Given the description of an element on the screen output the (x, y) to click on. 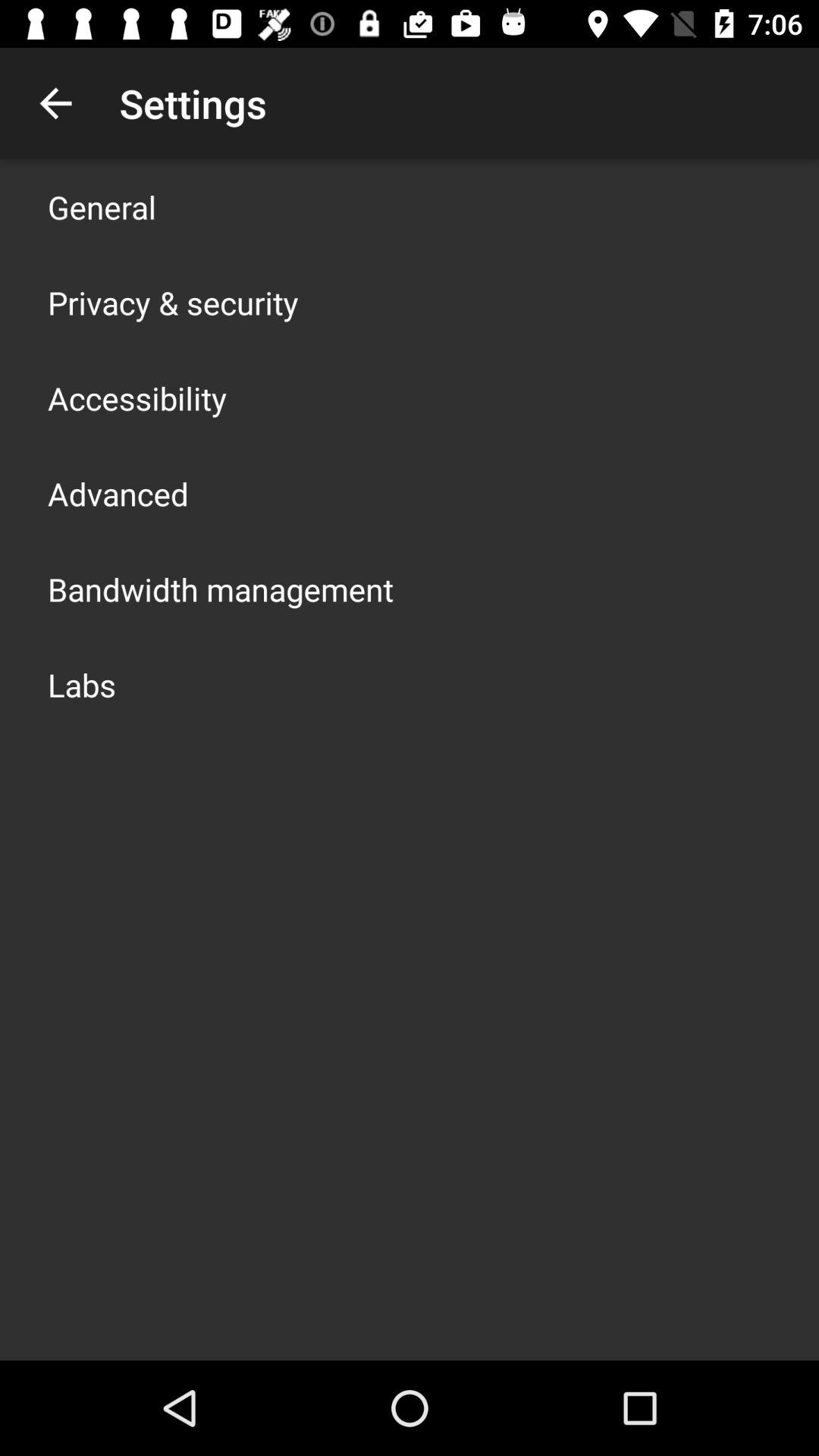
turn off the privacy & security item (172, 302)
